Given the description of an element on the screen output the (x, y) to click on. 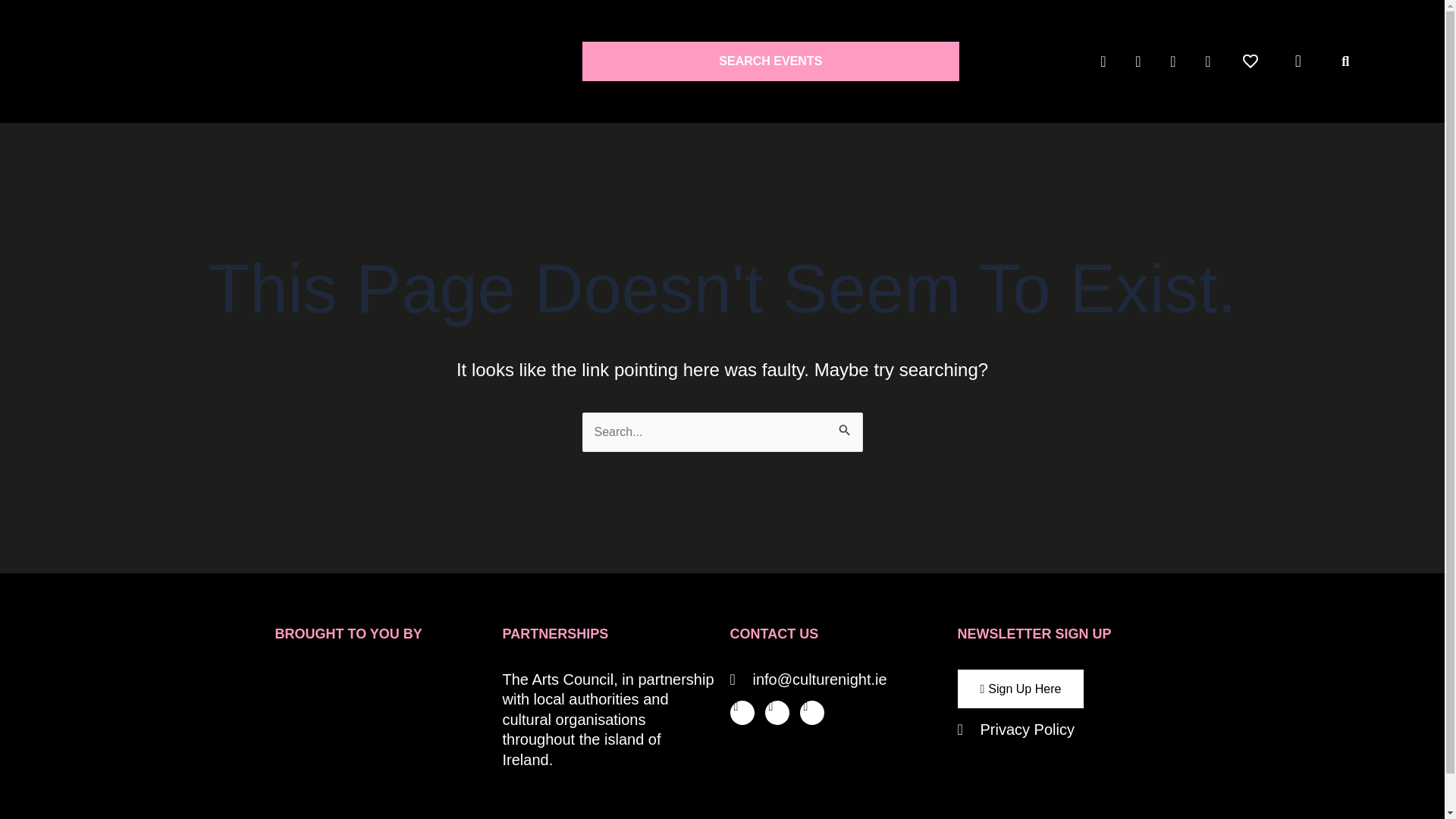
Privacy Policy (1062, 729)
Facebook (776, 712)
Instagram (811, 712)
Sign Up Here (1019, 688)
Twitter (741, 712)
Search (844, 429)
SEARCH EVENTS (770, 60)
Search (844, 429)
Search (844, 429)
